Given the description of an element on the screen output the (x, y) to click on. 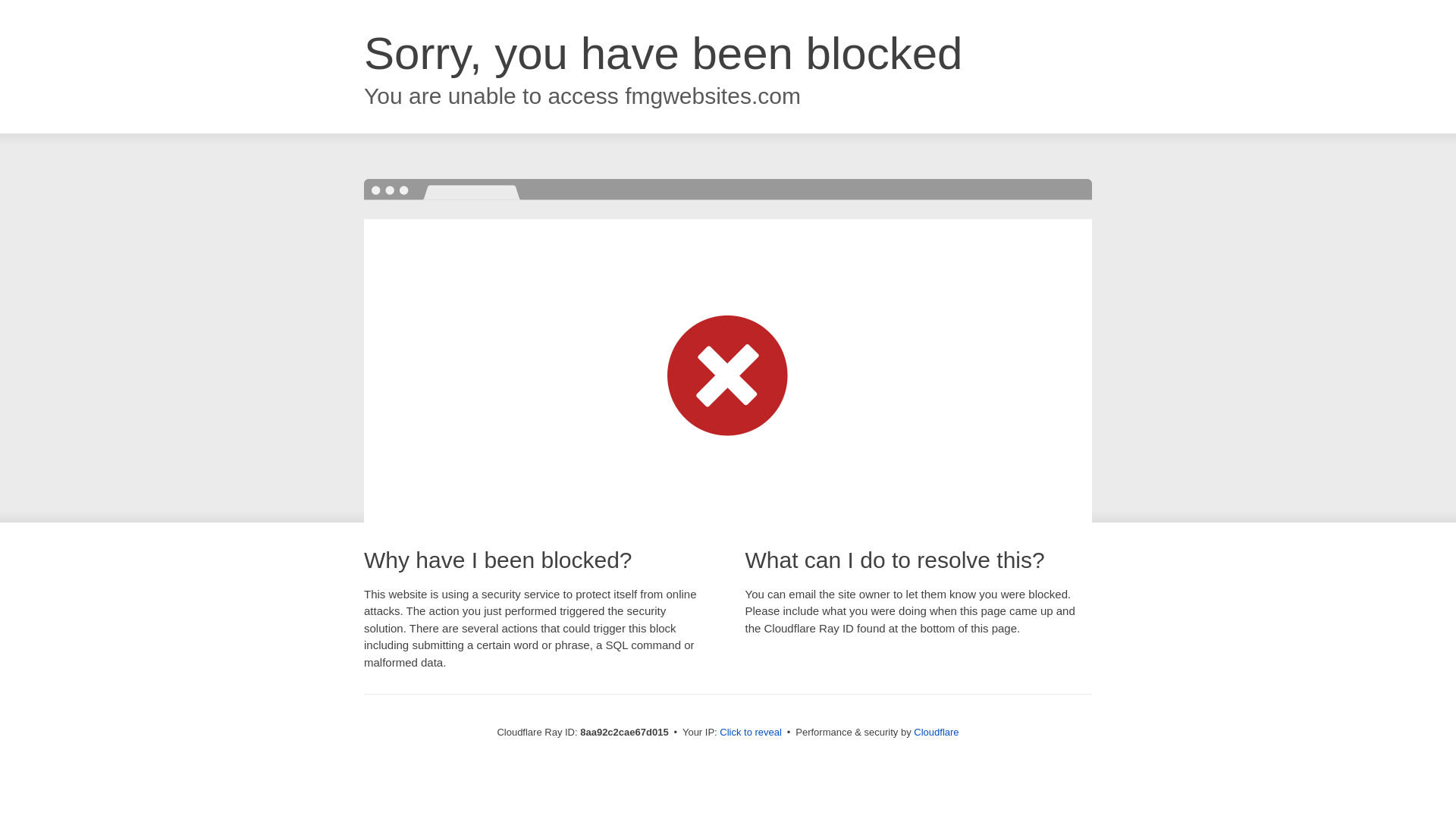
Cloudflare (936, 731)
Click to reveal (750, 732)
